Given the description of an element on the screen output the (x, y) to click on. 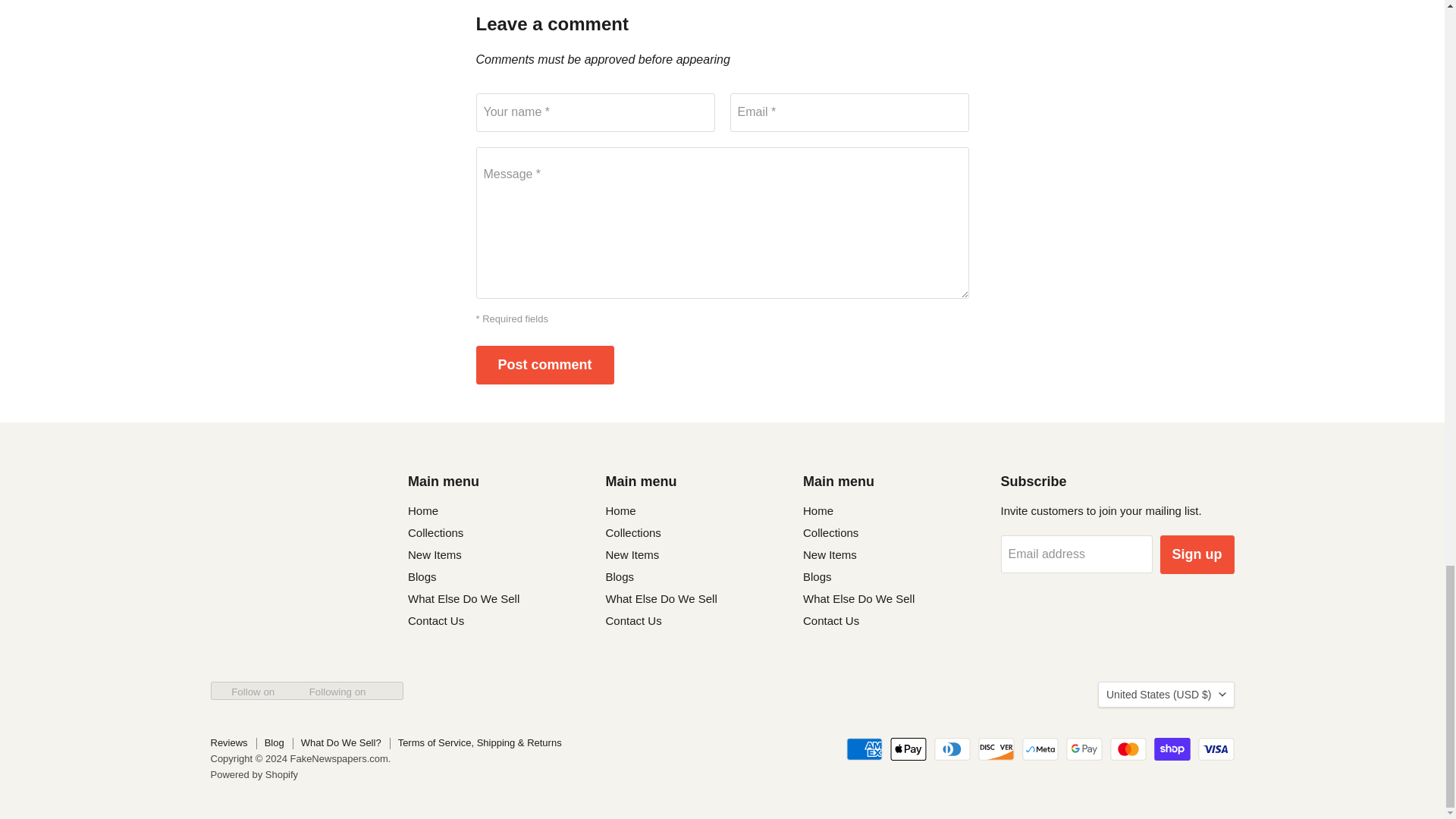
Diners Club (952, 748)
Shop Pay (1172, 748)
Apple Pay (907, 748)
Mastercard (1128, 748)
American Express (863, 748)
Google Pay (1083, 748)
Discover (996, 748)
Visa (1216, 748)
Meta Pay (1040, 748)
